Given the description of an element on the screen output the (x, y) to click on. 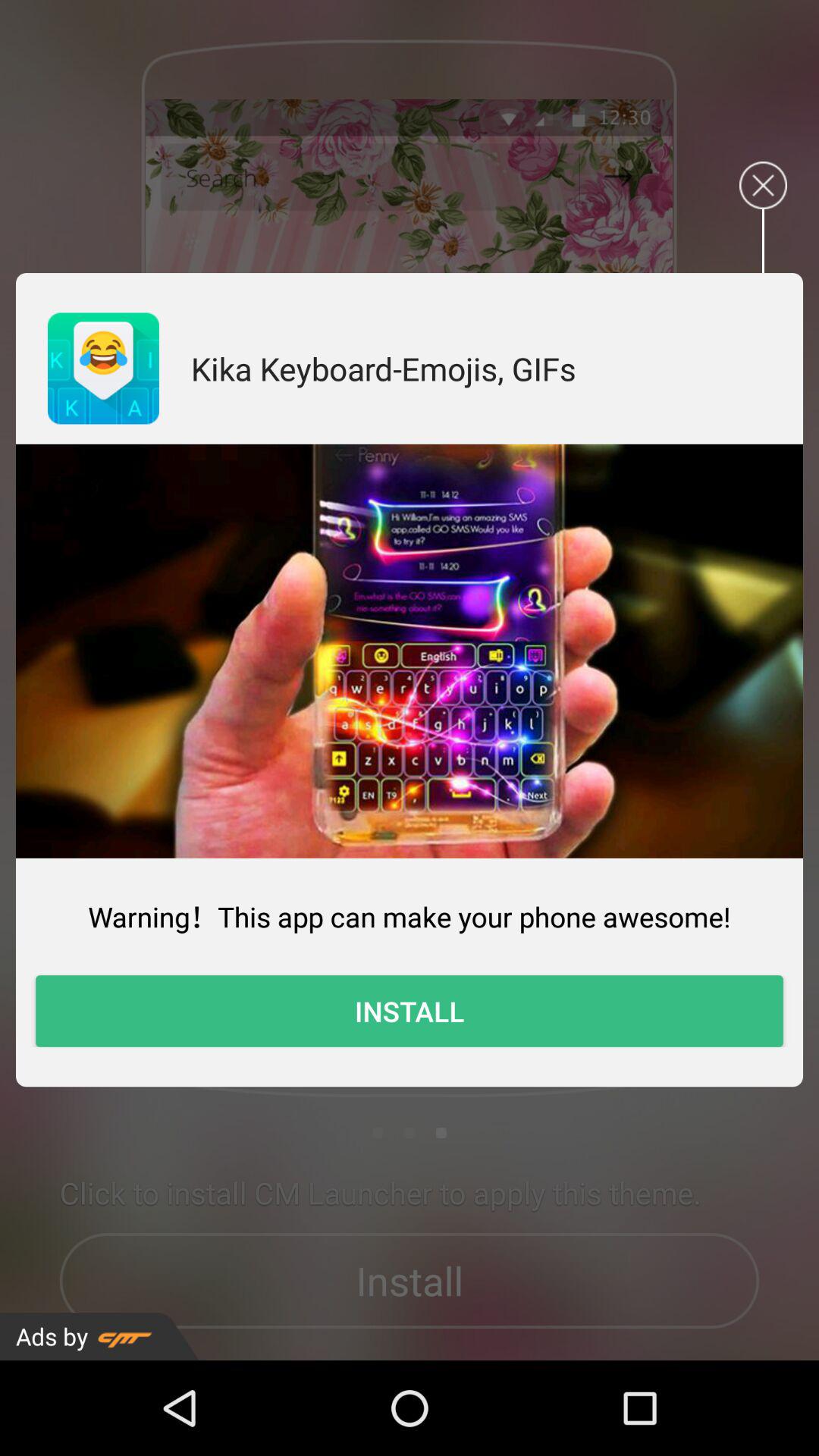
flip until install item (409, 1011)
